Given the description of an element on the screen output the (x, y) to click on. 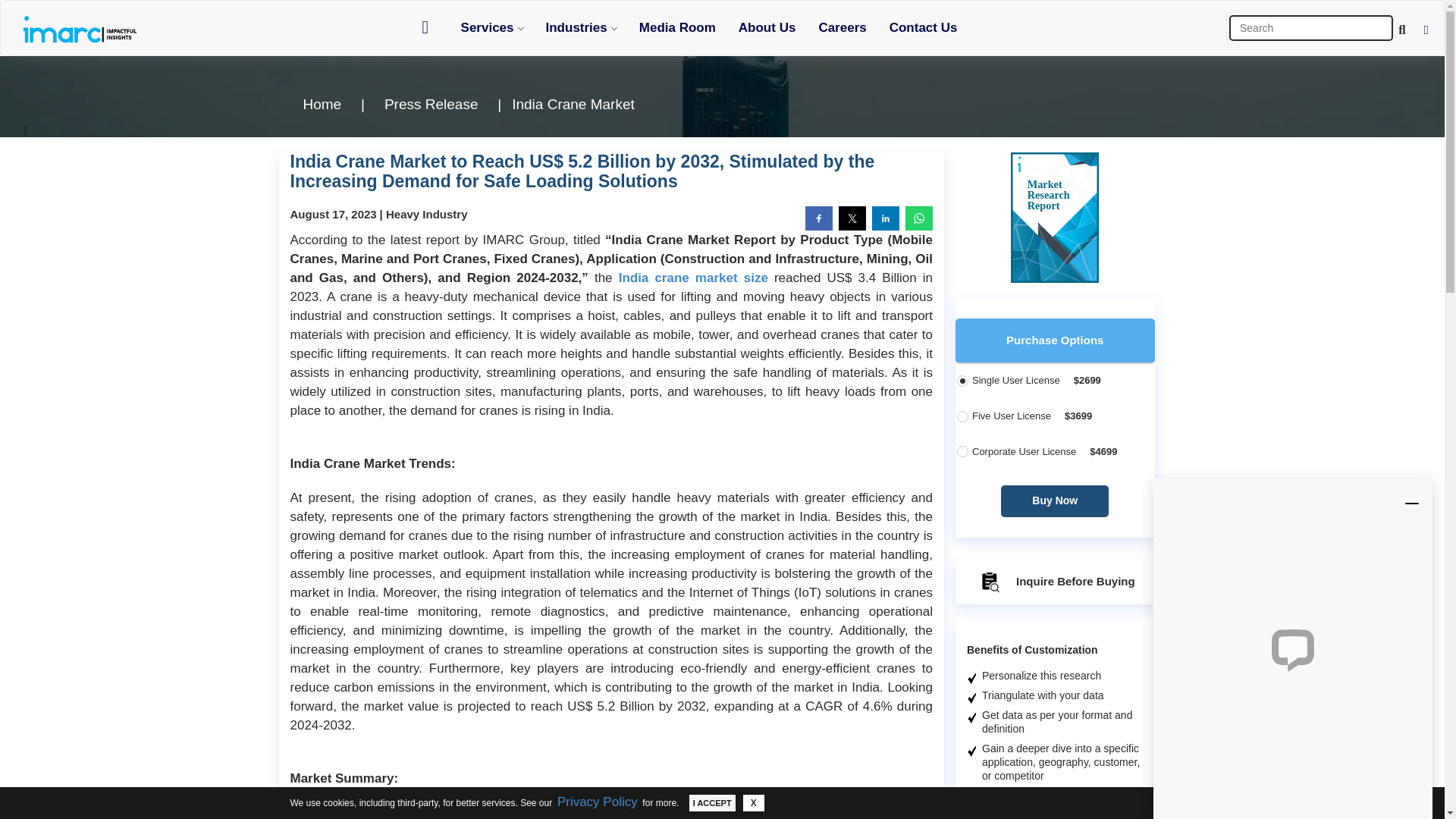
Careers (841, 27)
About Us (767, 27)
Contact Us (923, 27)
Media Room (676, 27)
Industries (580, 27)
Services (491, 27)
